Given the description of an element on the screen output the (x, y) to click on. 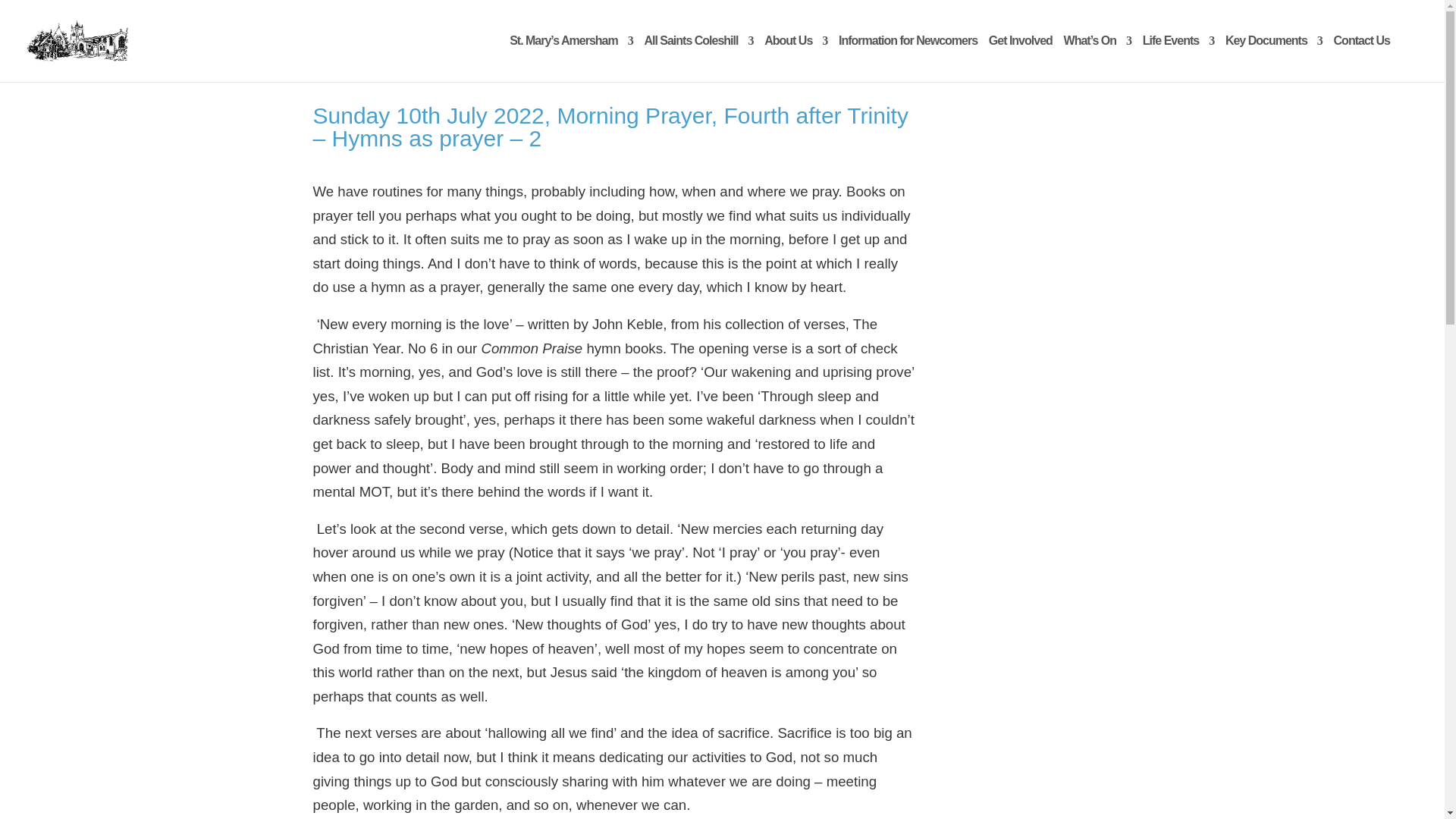
All Saints Coleshill (697, 56)
Get Involved (1020, 56)
Life Events (1178, 56)
Information for Newcomers (907, 56)
About Us (795, 56)
